Given the description of an element on the screen output the (x, y) to click on. 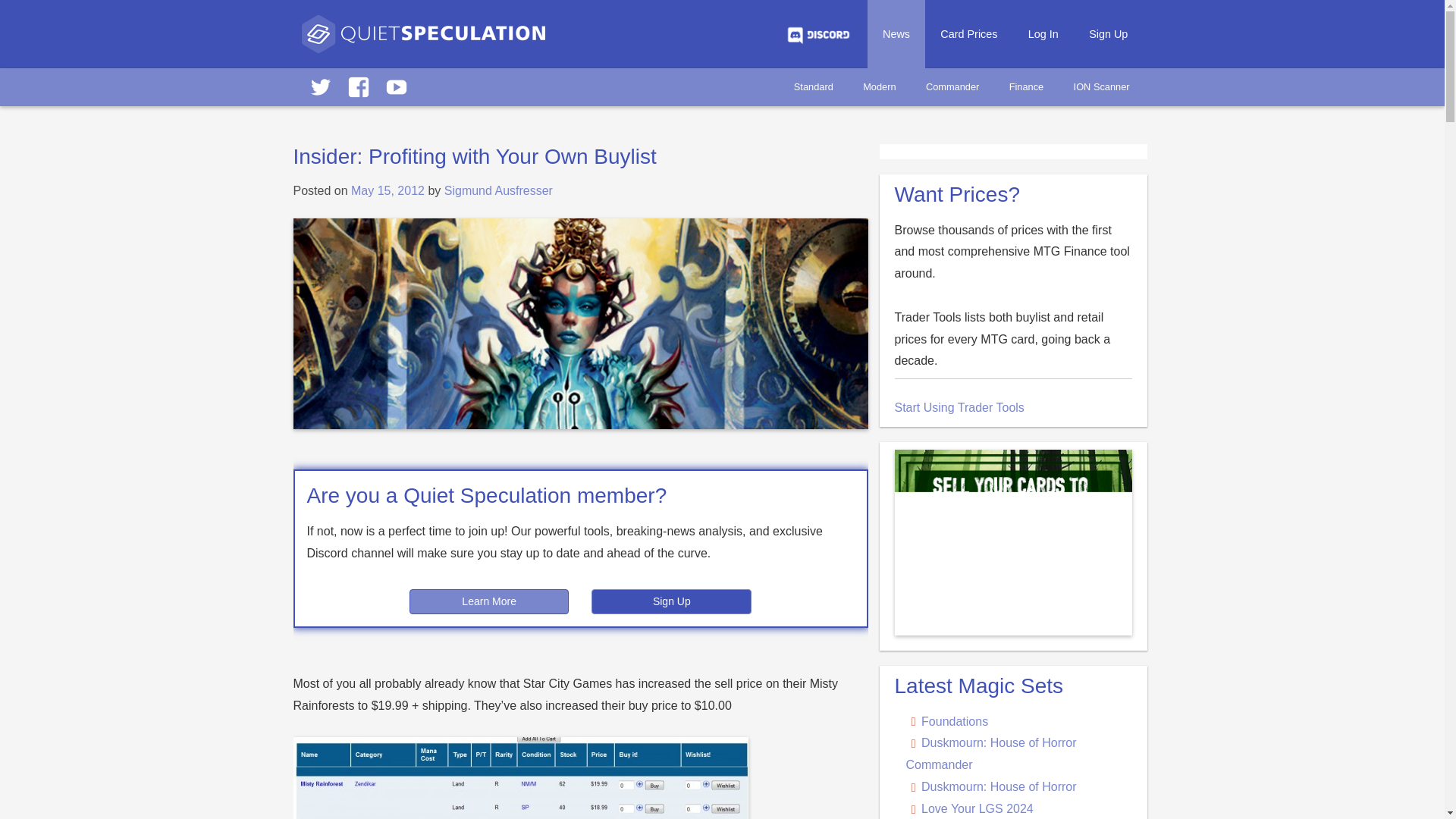
Sigmund Ausfresser (498, 190)
Card Prices (967, 33)
Finance (1026, 86)
Sign Up (1108, 33)
Learn More (489, 601)
Sign Up (671, 601)
Modern (878, 86)
May 15, 2012 (387, 190)
Standard (813, 86)
Log In (1043, 33)
